Given the description of an element on the screen output the (x, y) to click on. 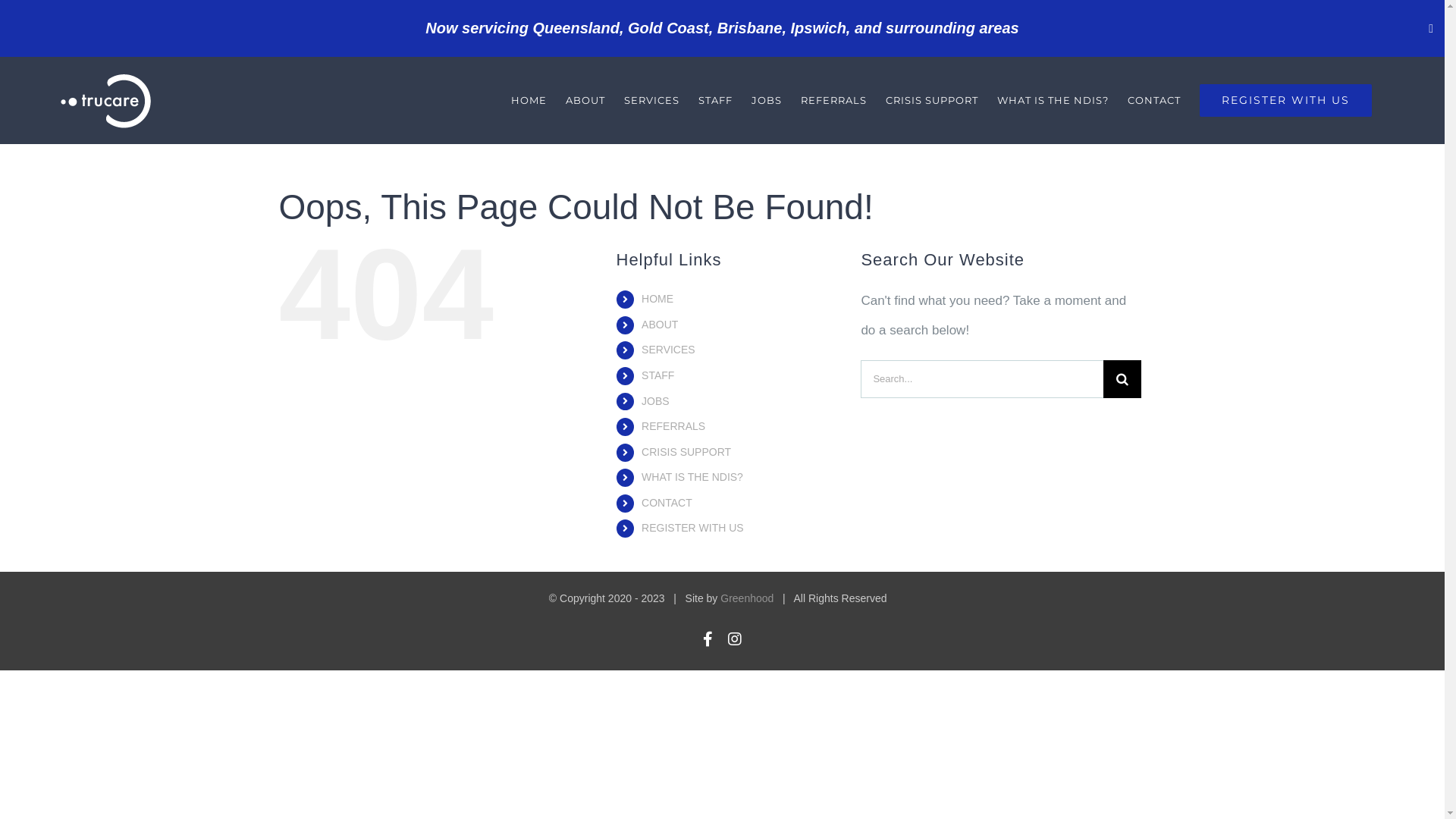
CONTACT Element type: text (666, 502)
SERVICES Element type: text (651, 100)
SERVICES Element type: text (668, 349)
CONTACT Element type: text (1153, 100)
JOBS Element type: text (655, 401)
CRISIS SUPPORT Element type: text (686, 451)
WHAT IS THE NDIS? Element type: text (1052, 100)
REGISTER WITH US Element type: text (692, 527)
REFERRALS Element type: text (673, 426)
HOME Element type: text (657, 298)
WHAT IS THE NDIS? Element type: text (692, 476)
REFERRALS Element type: text (833, 100)
ABOUT Element type: text (659, 324)
STAFF Element type: text (657, 375)
STAFF Element type: text (715, 100)
JOBS Element type: text (766, 100)
REGISTER WITH US Element type: text (1285, 100)
CRISIS SUPPORT Element type: text (931, 100)
HOME Element type: text (528, 100)
Greenhood Element type: text (746, 598)
ABOUT Element type: text (585, 100)
Instagram Element type: text (734, 638)
Facebook Element type: text (707, 638)
